Given the description of an element on the screen output the (x, y) to click on. 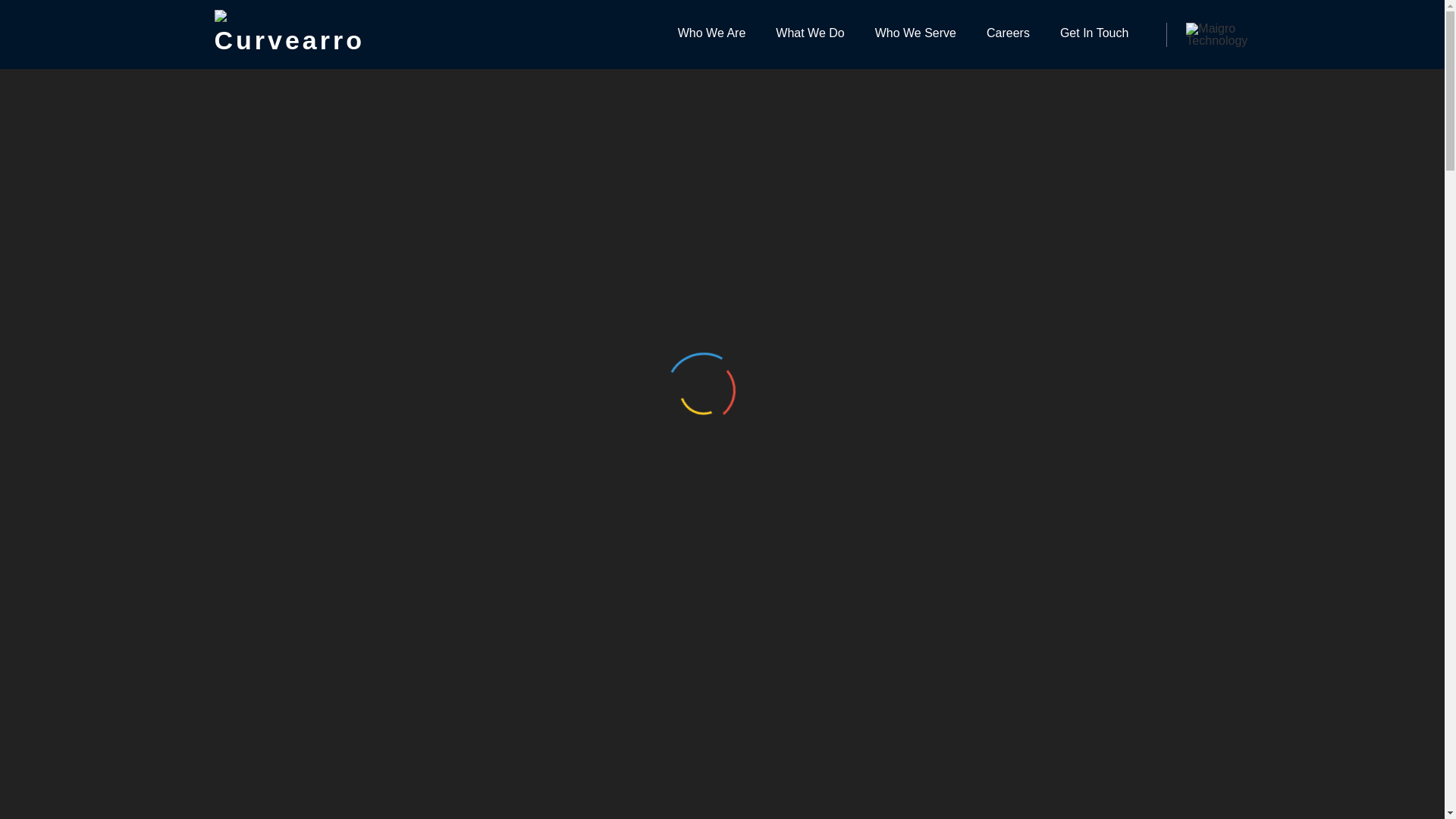
Social Media (392, 458)
Instagram (633, 458)
Traffic generation (421, 477)
Who We Are (711, 34)
What We Do (810, 34)
Get In Touch (1093, 34)
Digital Marketing (997, 721)
Who We Serve (915, 34)
What We Do (810, 34)
Paid Platform Merchandising (1037, 809)
Culture (965, 677)
Jun 24, 2021 (299, 458)
Benefits of social media promotion for your brand (736, 221)
Who We Are (711, 34)
SEO (678, 458)
